Given the description of an element on the screen output the (x, y) to click on. 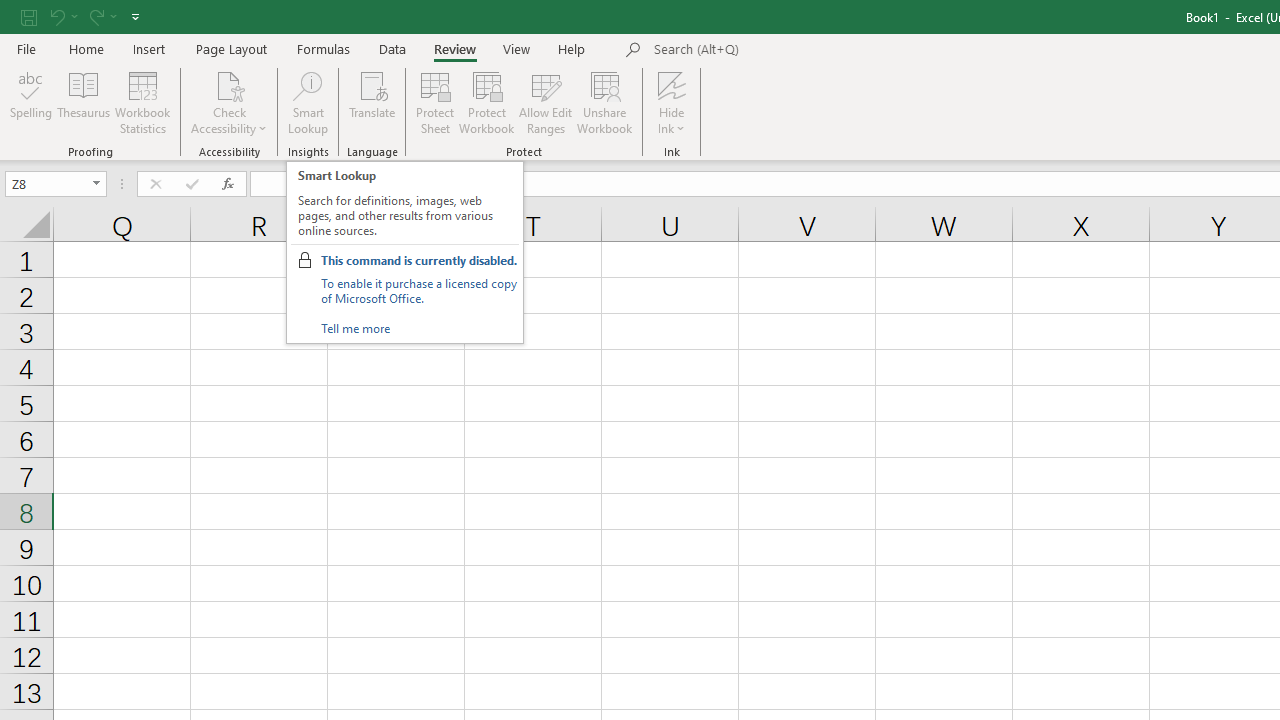
This command is currently disabled. (418, 260)
Thesaurus... (83, 102)
Check Accessibility (229, 102)
Protect Sheet... (434, 102)
Translate (372, 102)
